Given the description of an element on the screen output the (x, y) to click on. 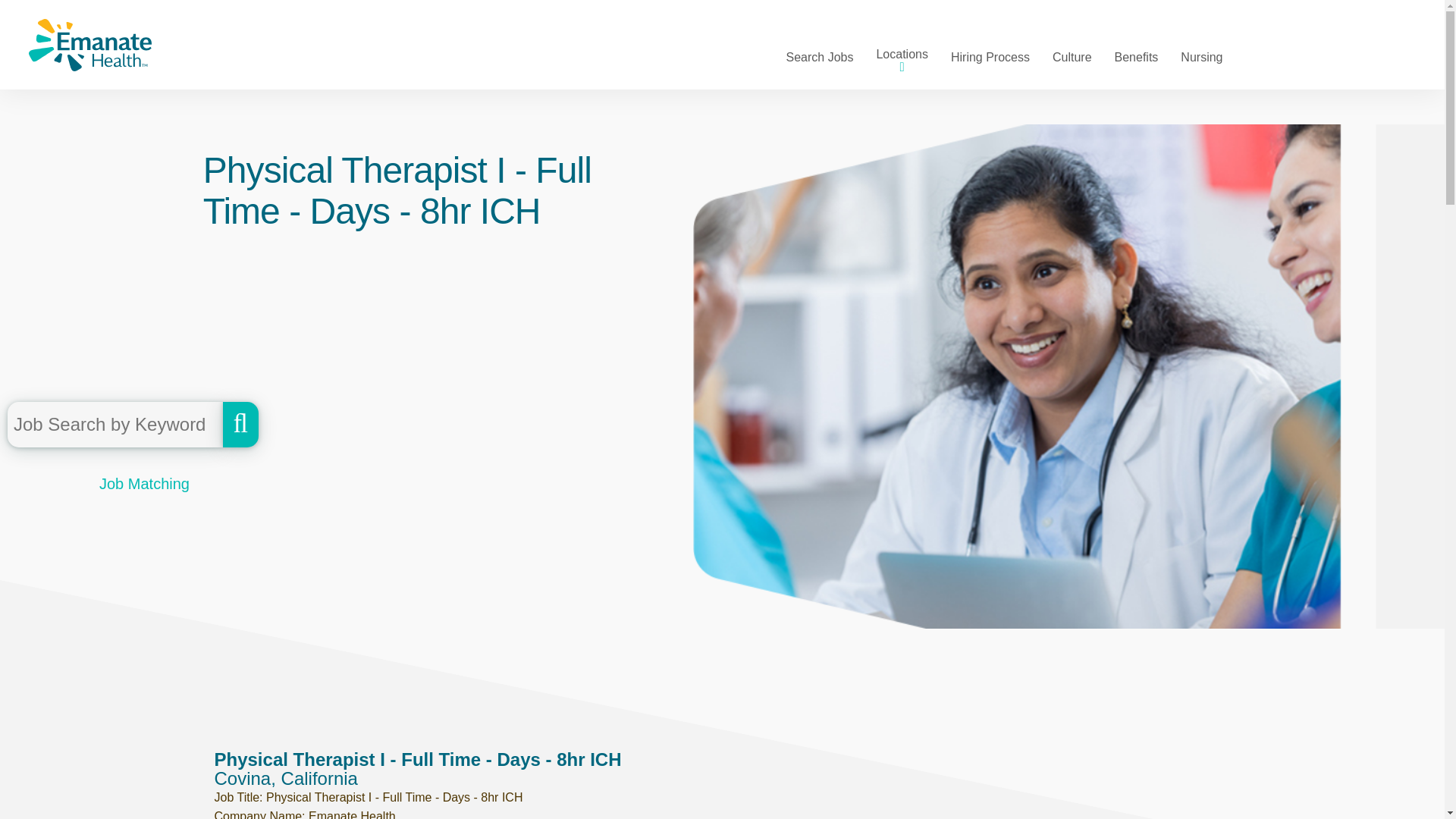
Job Matching (373, 495)
Culture (1072, 56)
Glassdoor Reviews and Company Rating (1077, 491)
Benefits (1136, 56)
Nursing (1201, 56)
Hiring Process (989, 56)
Locations (902, 61)
Search Jobs (819, 56)
